Given the description of an element on the screen output the (x, y) to click on. 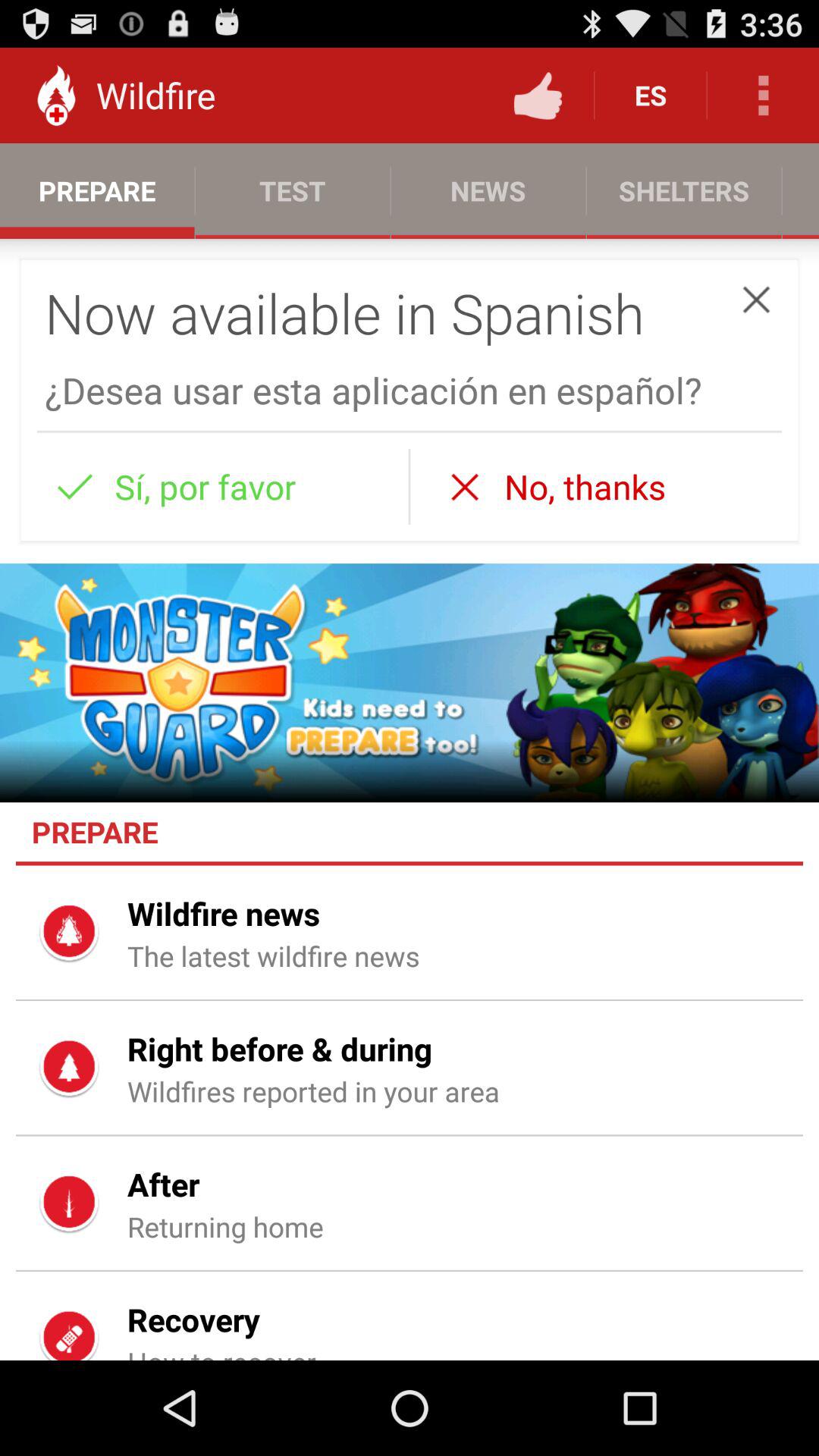
select the icon below shelters item (755, 299)
